Given the description of an element on the screen output the (x, y) to click on. 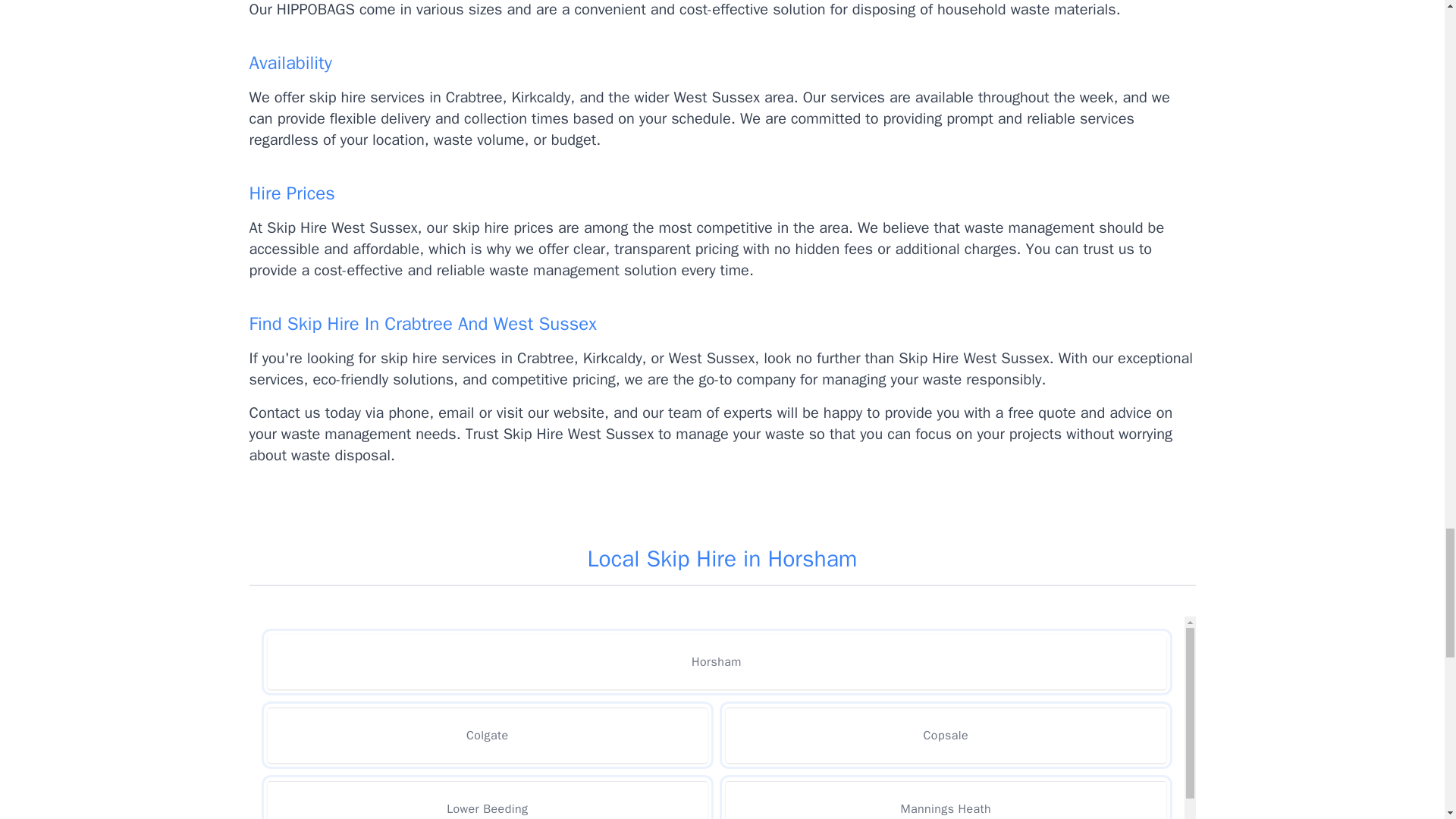
Colgate (486, 734)
Mannings Heath (945, 800)
Lower Beeding (486, 800)
Copsale (945, 734)
Horsham (716, 661)
